Given the description of an element on the screen output the (x, y) to click on. 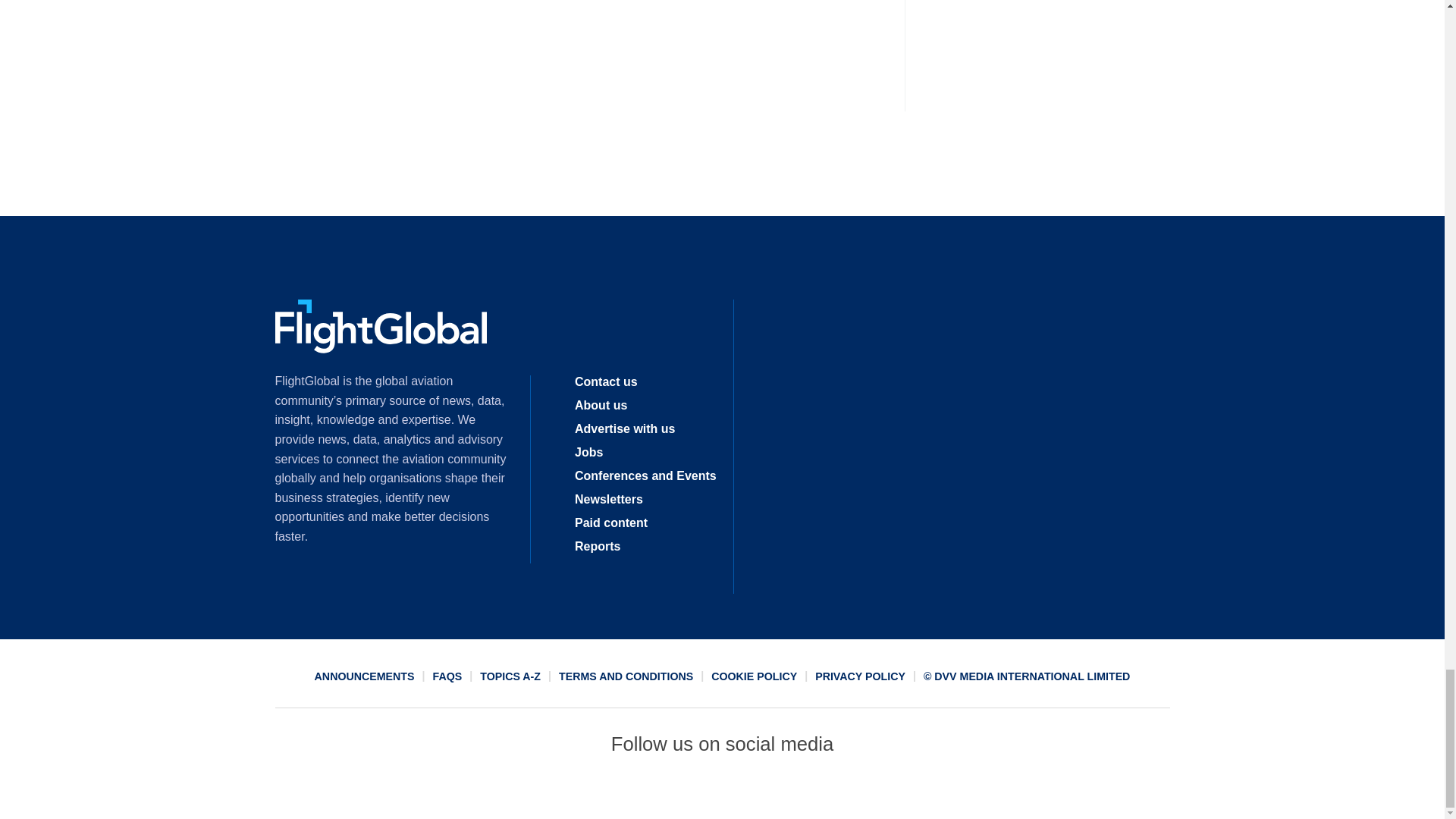
Connect with us on Facebook (611, 791)
Connect with us on Twitter (667, 791)
Email us (776, 791)
Connect with us on Youtube (831, 791)
Connect with us on Linked In (721, 791)
